Given the description of an element on the screen output the (x, y) to click on. 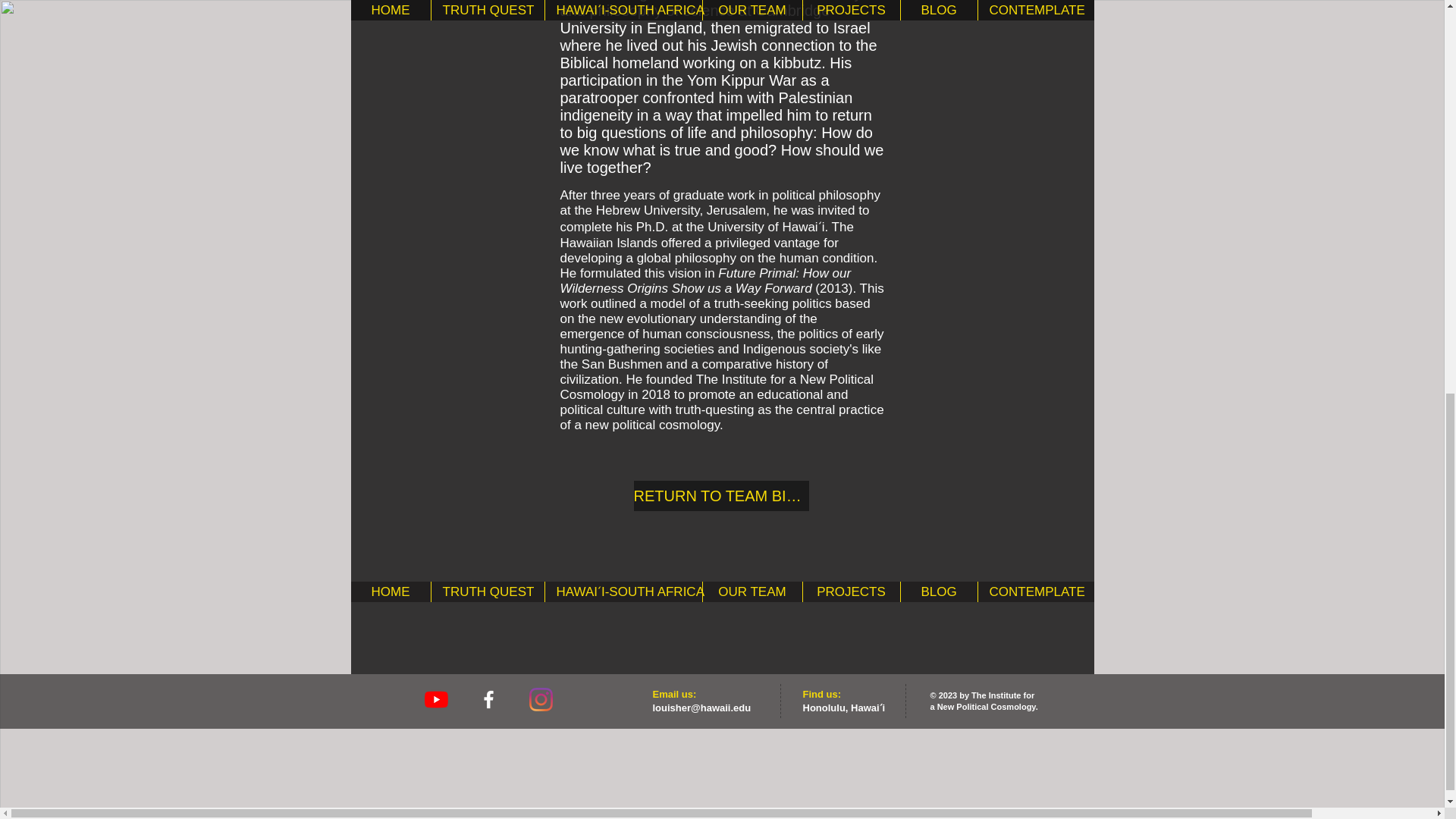
PROJECTS (850, 591)
HOME (389, 591)
BLOG (937, 591)
TRUTH QUEST (487, 591)
CONTEMPLATE (1034, 591)
RETURN TO TEAM BIOS (721, 495)
OUR TEAM (751, 591)
